Given the description of an element on the screen output the (x, y) to click on. 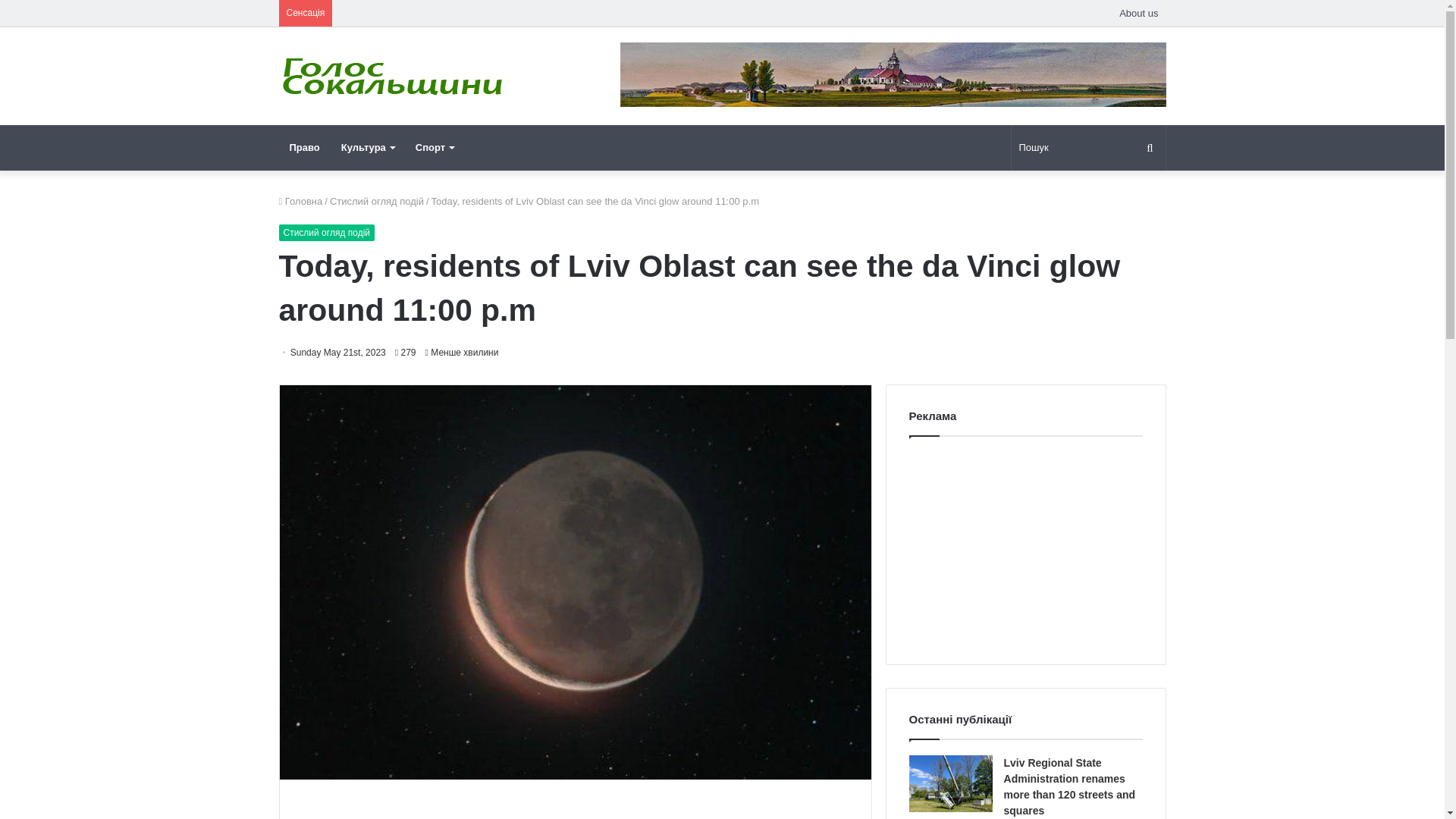
Voice of Sokal - news about Sokal, Chervonohrad (392, 76)
About us (1139, 13)
Advertisement (577, 810)
Advertisement (1025, 546)
